Given the description of an element on the screen output the (x, y) to click on. 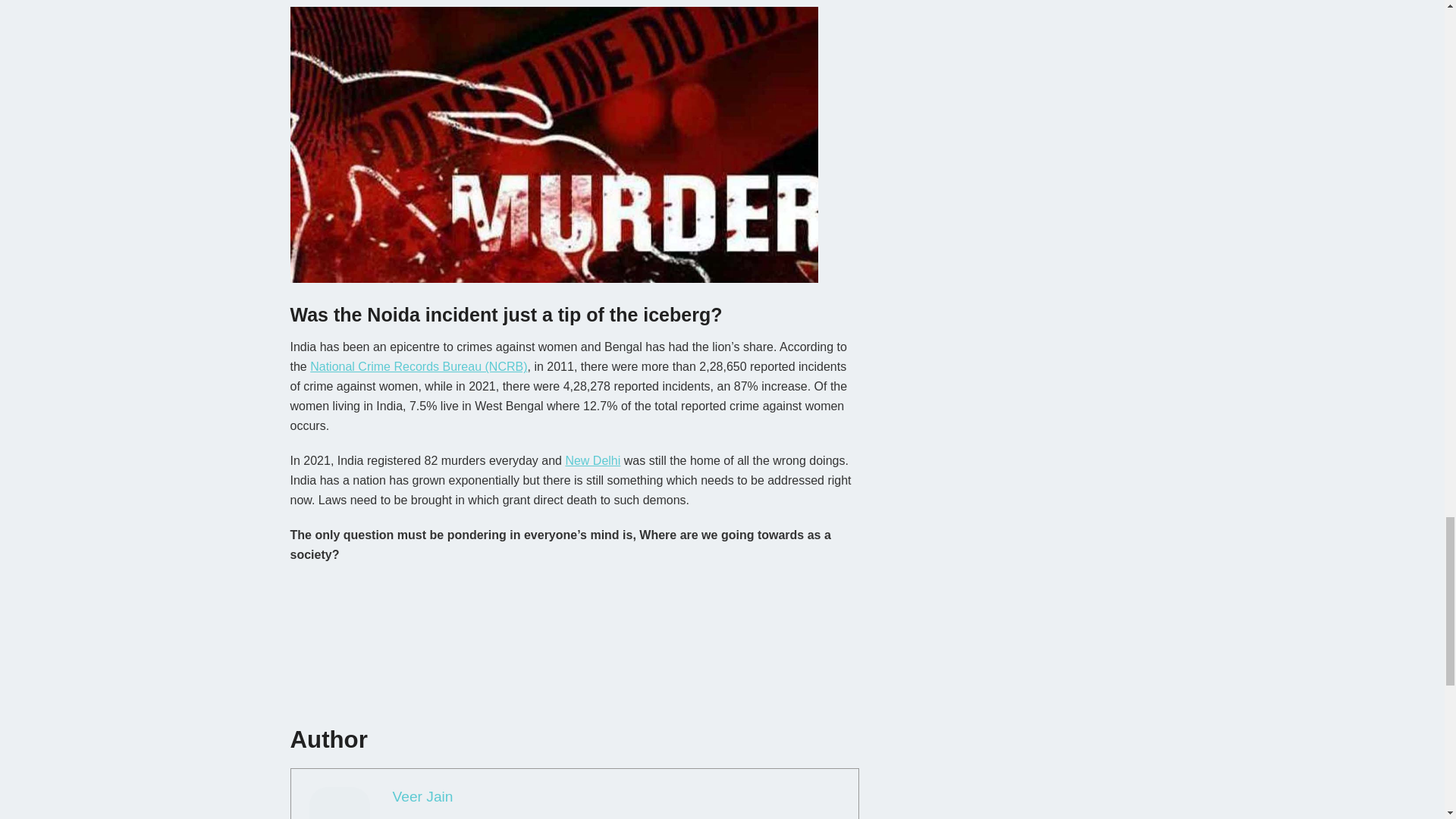
Veer Jain (422, 796)
